Given the description of an element on the screen output the (x, y) to click on. 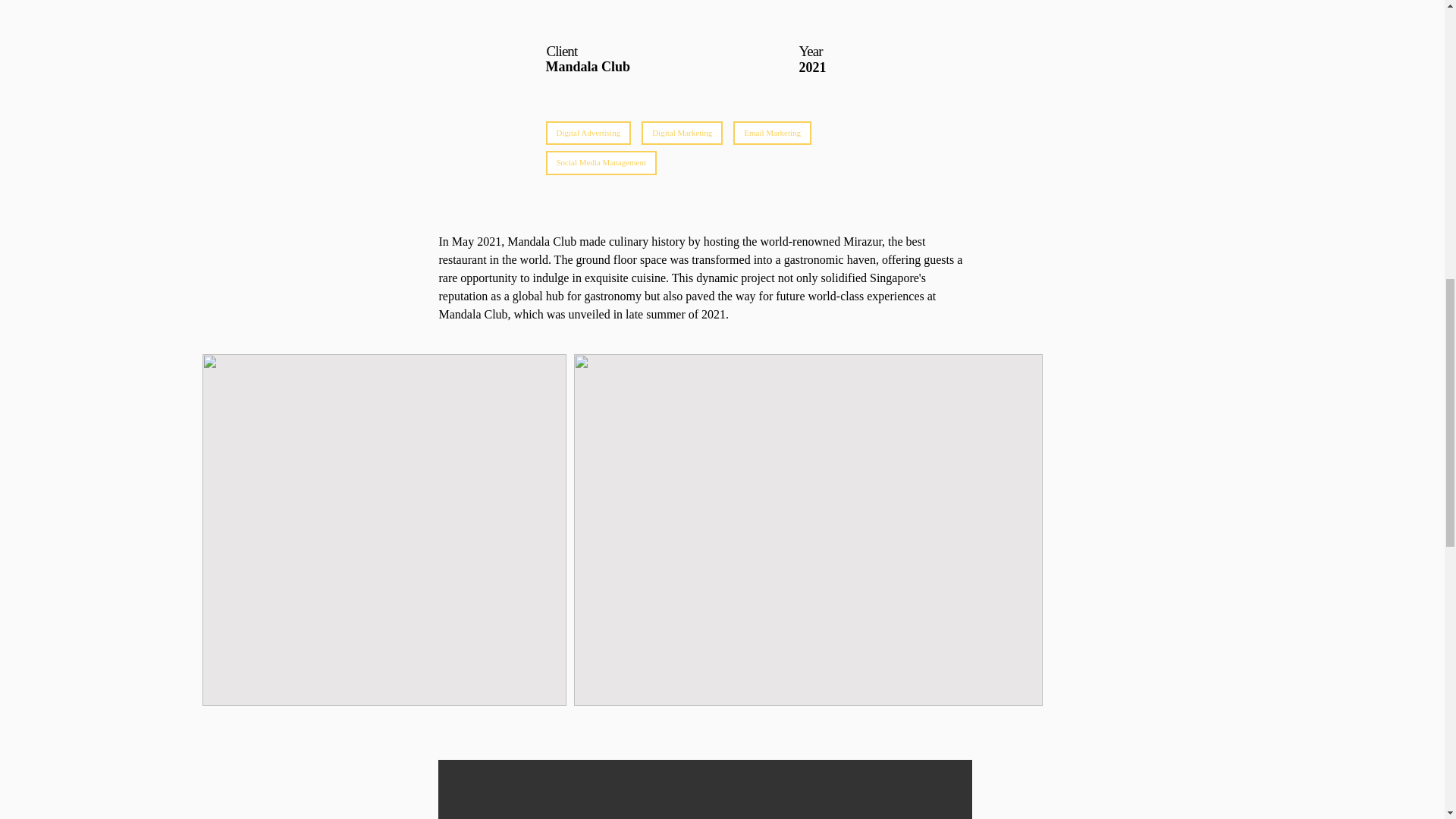
U0513 Mirazur67957.jpg (704, 10)
